Given the description of an element on the screen output the (x, y) to click on. 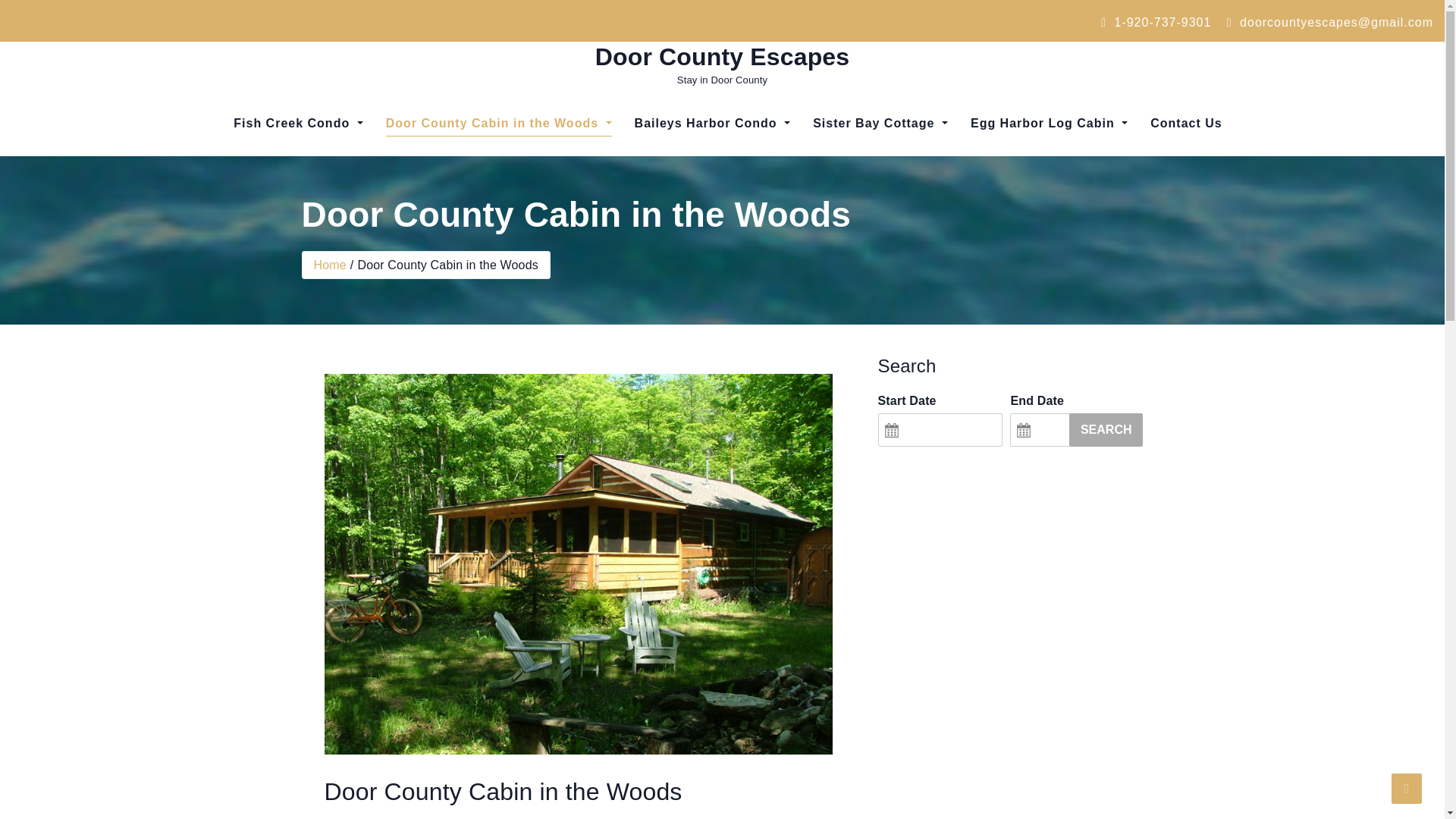
Accommodations (470, 170)
1-920-737-9301 (1155, 21)
Door County Escapes (722, 56)
Things to Do in Door County (298, 181)
Baileys Harbor Condo (712, 122)
Baileys Harbor Condo (712, 122)
Fish Creek Condo (298, 122)
Door County Cabin in the Woods (498, 122)
Accommodations (1048, 170)
Door County Cabin in the Woods (498, 122)
Accommodations (712, 170)
Things to Do in Door County (298, 181)
Things to Do in Door County (712, 181)
Accommodations (712, 170)
Things to Do in Door County (880, 181)
